Given the description of an element on the screen output the (x, y) to click on. 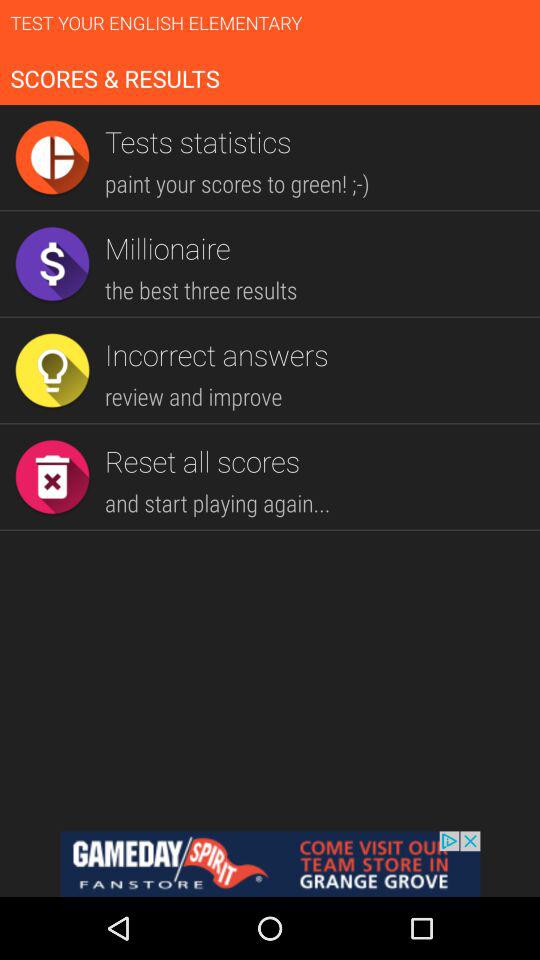
visit team store (270, 864)
